Given the description of an element on the screen output the (x, y) to click on. 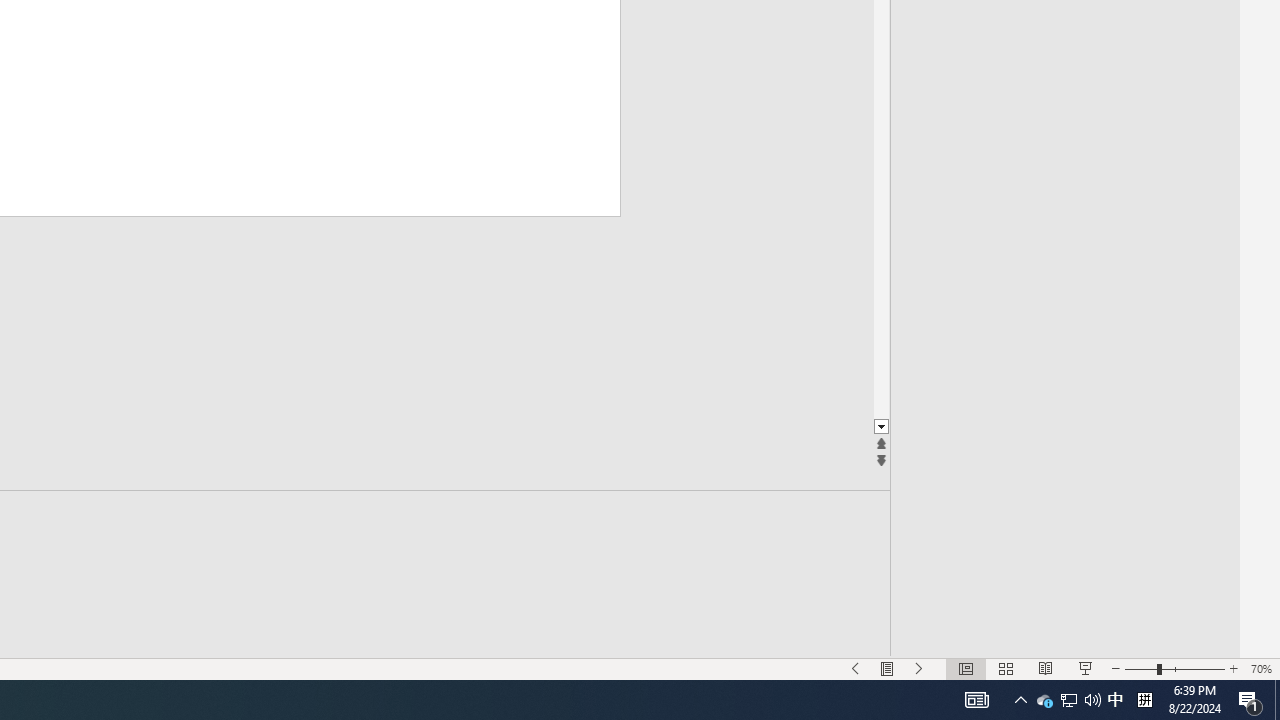
Reading View (1046, 668)
Slide Show Next On (919, 668)
Menu On (887, 668)
Zoom 70% (1261, 668)
Normal (965, 668)
Slide Show Previous On (855, 668)
Zoom Out (1141, 668)
Zoom In (1233, 668)
